Given the description of an element on the screen output the (x, y) to click on. 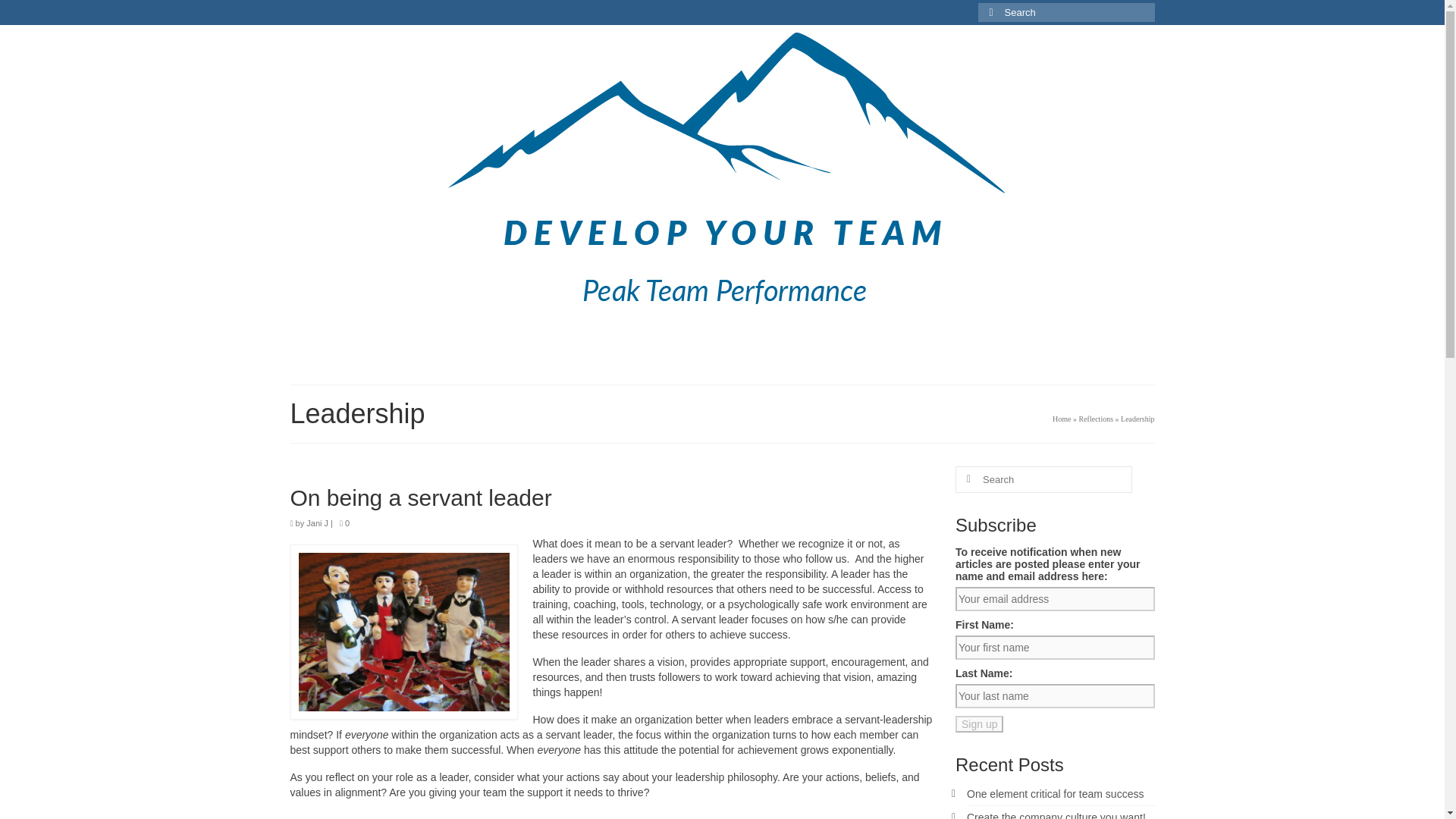
About (931, 340)
Home (360, 340)
Sign up (979, 723)
Create the company culture you want! (1055, 815)
Reflections (788, 340)
0 (344, 522)
Home (1061, 418)
On being a servant leader (611, 497)
Sign up (979, 723)
Jani J (317, 522)
